Given the description of an element on the screen output the (x, y) to click on. 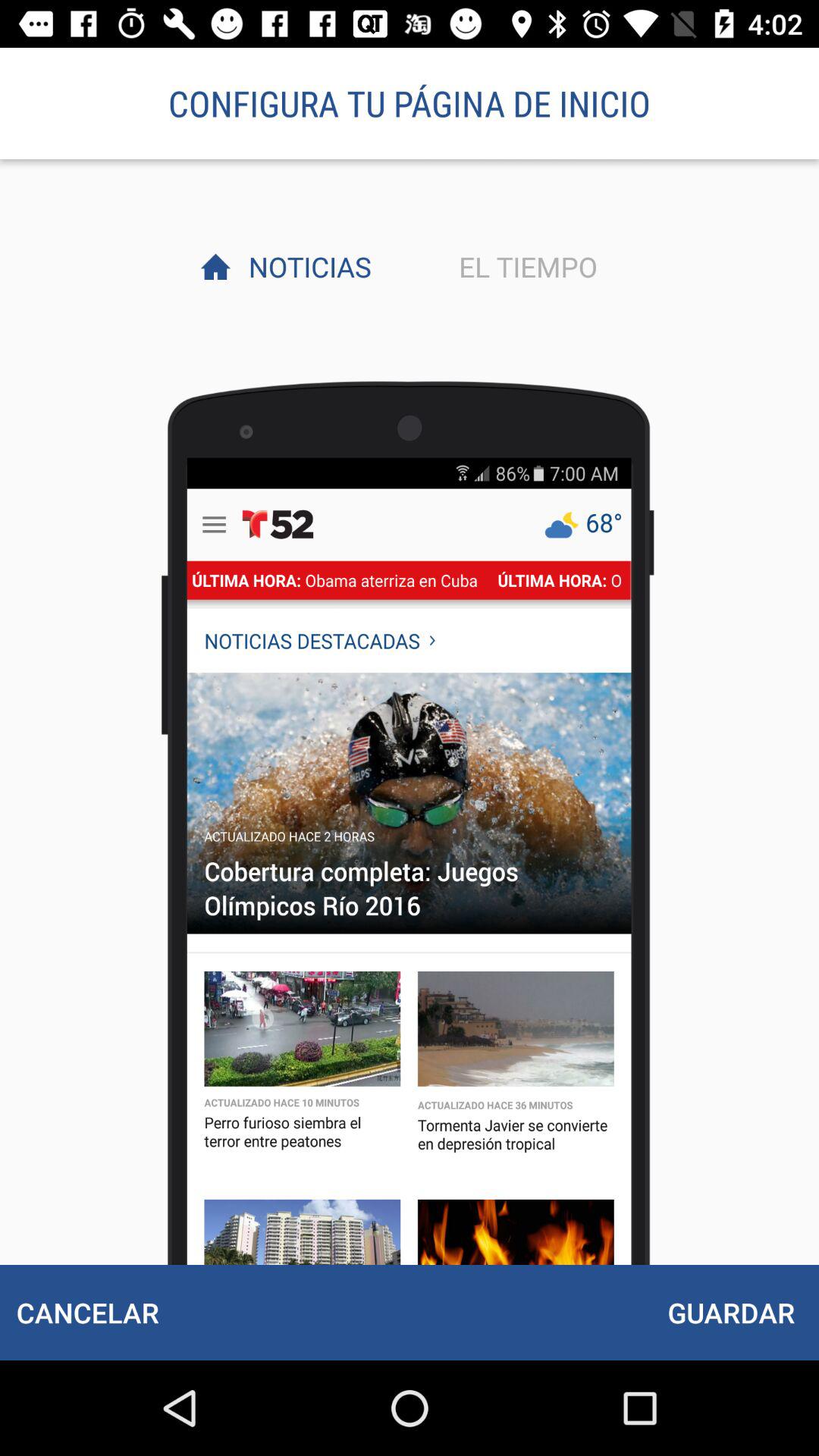
open item next to the cancelar item (731, 1312)
